Given the description of an element on the screen output the (x, y) to click on. 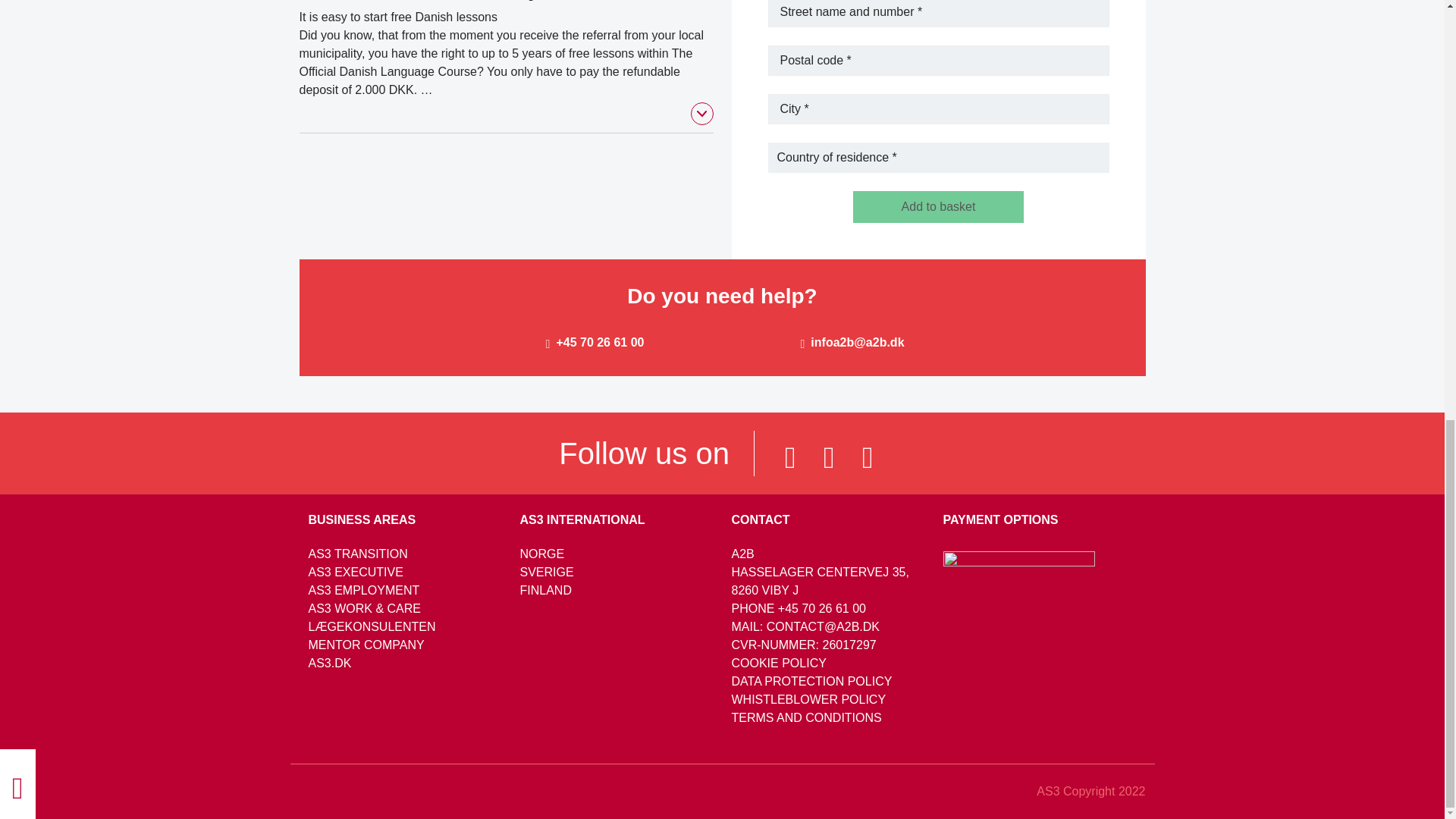
AS3.DK (328, 662)
AS3 EXECUTIVE (355, 571)
AS3 EMPLOYMENT (363, 590)
WHISTLEBLOWER POLICY (807, 698)
SVERIGE (546, 571)
Terms and Conditions (805, 717)
Route (819, 581)
DATA PROTECTION POLICY (810, 680)
HASSELAGER CENTERVEJ 35, 8260 VIBY J (819, 581)
COOKIE POLICY (777, 662)
